Given the description of an element on the screen output the (x, y) to click on. 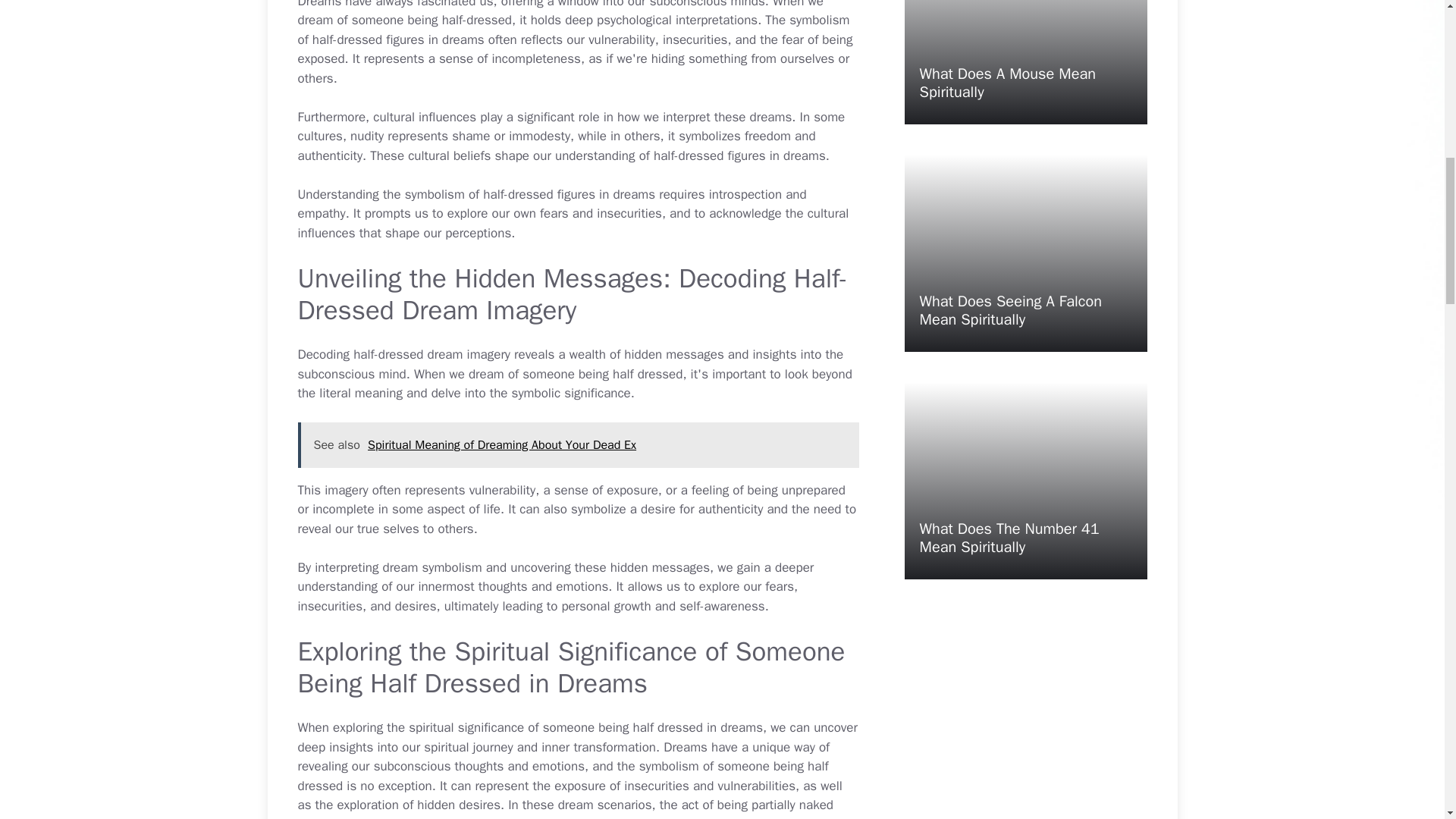
Scroll back to top (1406, 720)
What Does The Number 41 Mean Spiritually (1008, 537)
See also  Spiritual Meaning of Dreaming About Your Dead Ex (578, 444)
window (577, 4)
What Does A Mouse Mean Spiritually (1007, 82)
What Does Seeing A Falcon Mean Spiritually (1009, 310)
window (577, 4)
